Given the description of an element on the screen output the (x, y) to click on. 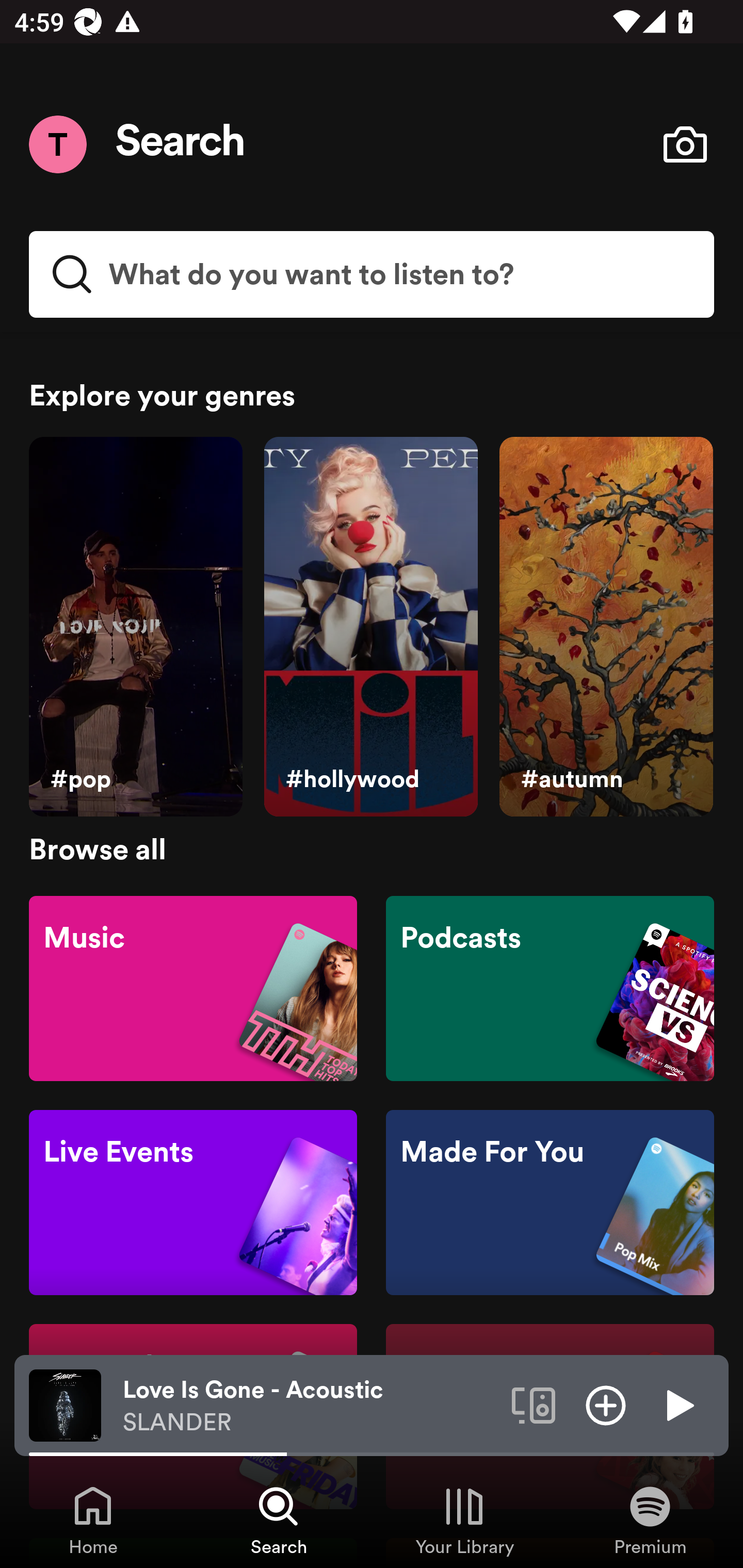
Menu (57, 144)
Open camera (685, 145)
Search (180, 144)
#pop (135, 626)
#hollywood (370, 626)
#autumn (606, 626)
Music (192, 987)
Podcasts (549, 987)
Live Events (192, 1202)
Made For You (549, 1202)
Love Is Gone - Acoustic SLANDER (309, 1405)
The cover art of the currently playing track (64, 1404)
Connect to a device. Opens the devices menu (533, 1404)
Add item (605, 1404)
Play (677, 1404)
Home, Tab 1 of 4 Home Home (92, 1519)
Search, Tab 2 of 4 Search Search (278, 1519)
Your Library, Tab 3 of 4 Your Library Your Library (464, 1519)
Premium, Tab 4 of 4 Premium Premium (650, 1519)
